Given the description of an element on the screen output the (x, y) to click on. 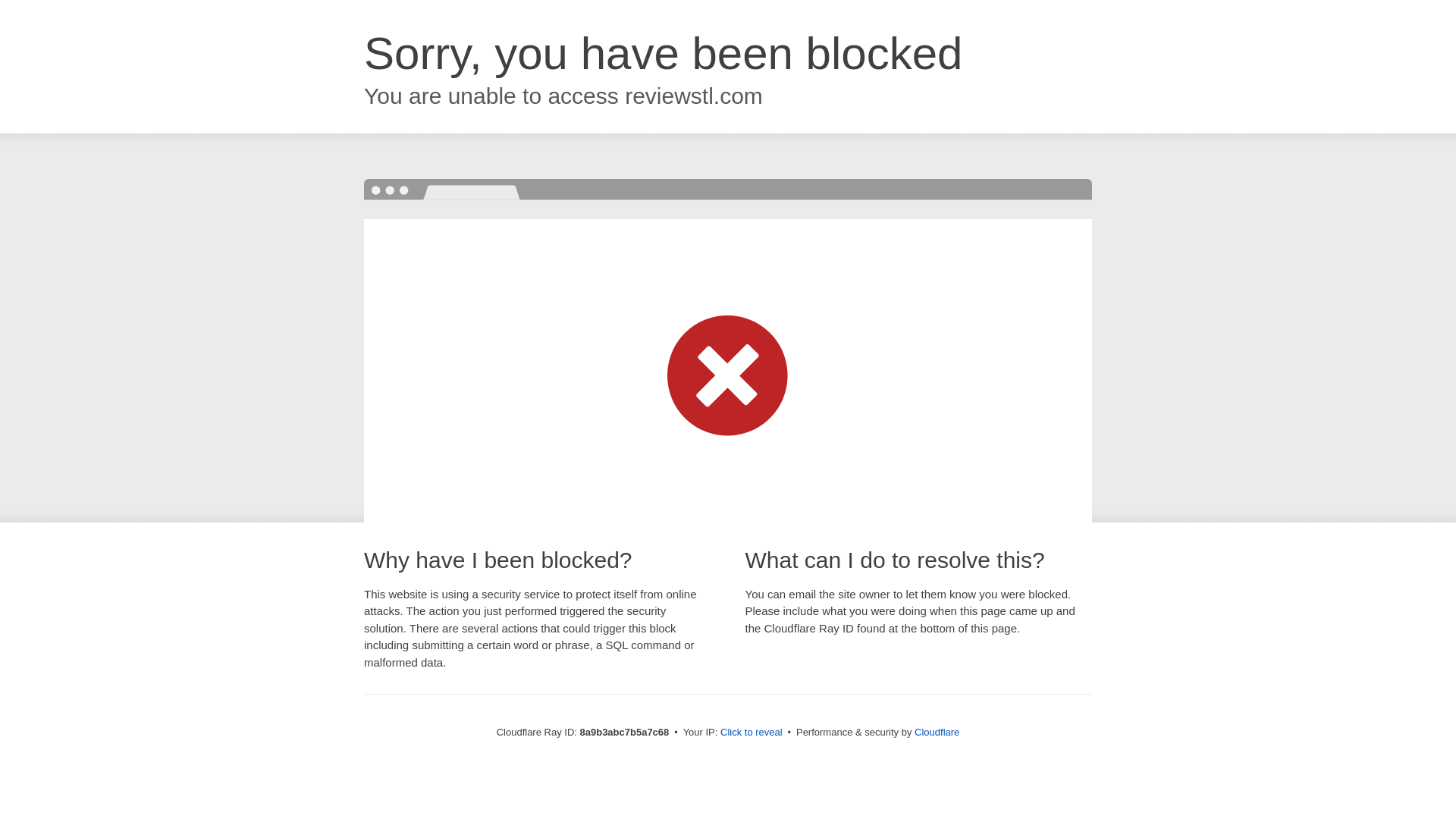
Cloudflare (936, 731)
Click to reveal (751, 732)
